Given the description of an element on the screen output the (x, y) to click on. 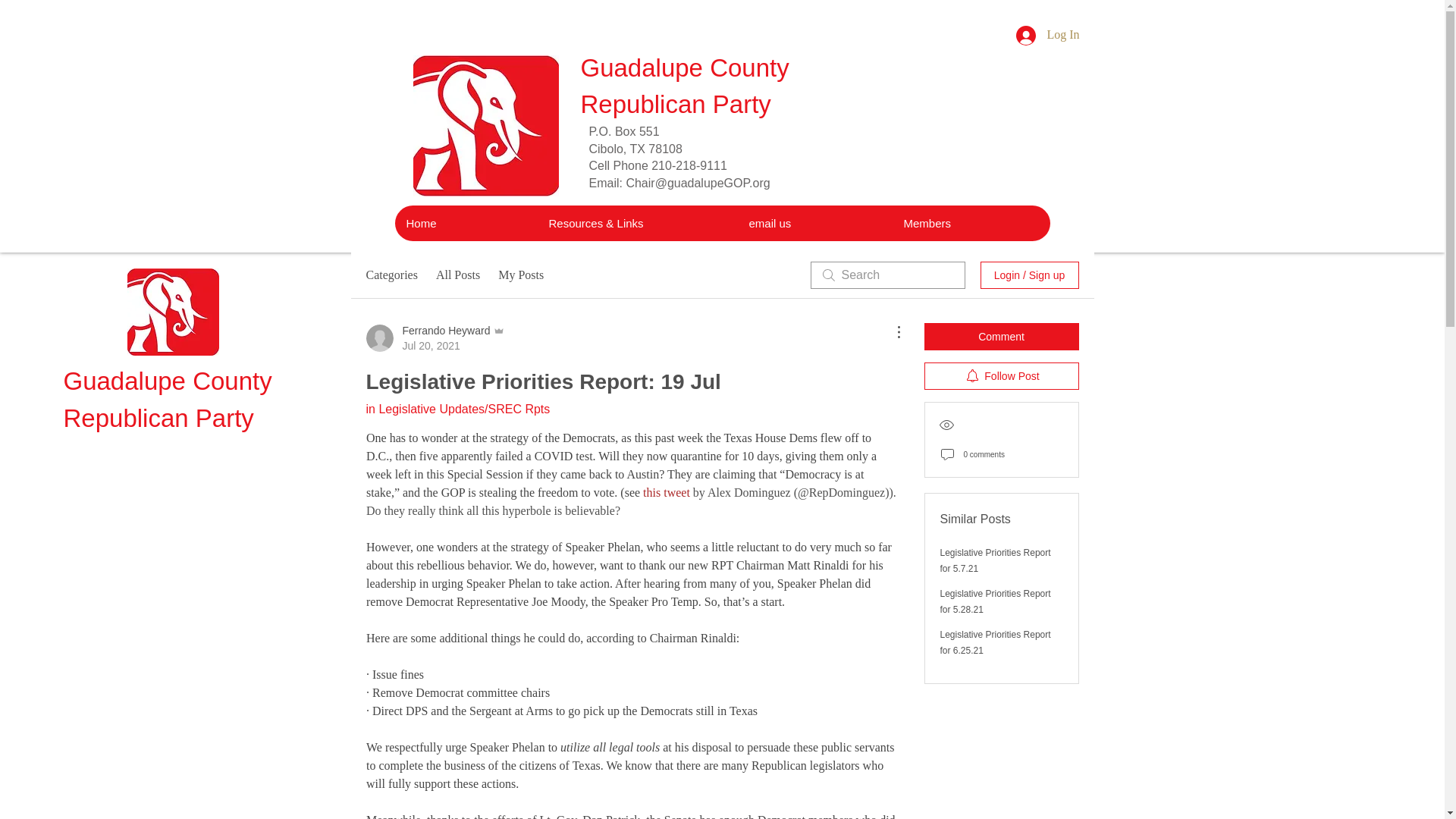
redelephant.JPG (484, 125)
My Posts (520, 275)
All Posts (435, 337)
Legislative Priorities Report for 6.25.21 (457, 275)
redelephant.JPG (995, 642)
Legislative Priorities Report for 5.7.21 (173, 311)
Categories (995, 560)
Log In (390, 275)
Comment (1047, 35)
Members (1000, 336)
email us (970, 222)
Legislative Priorities Report for 5.28.21 (813, 222)
Follow Post (995, 601)
Home (1000, 375)
